Given the description of an element on the screen output the (x, y) to click on. 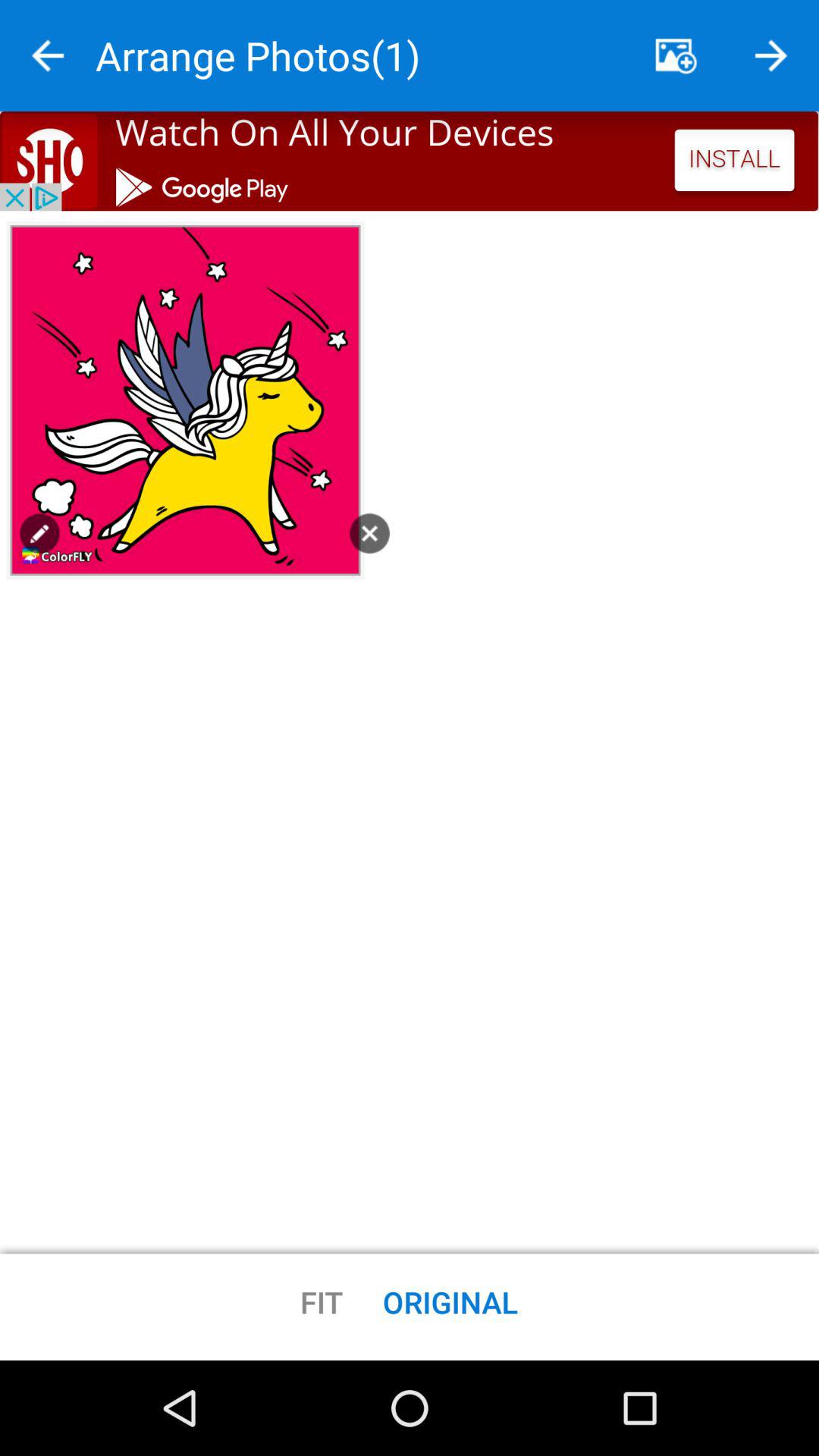
go back button (771, 55)
